Given the description of an element on the screen output the (x, y) to click on. 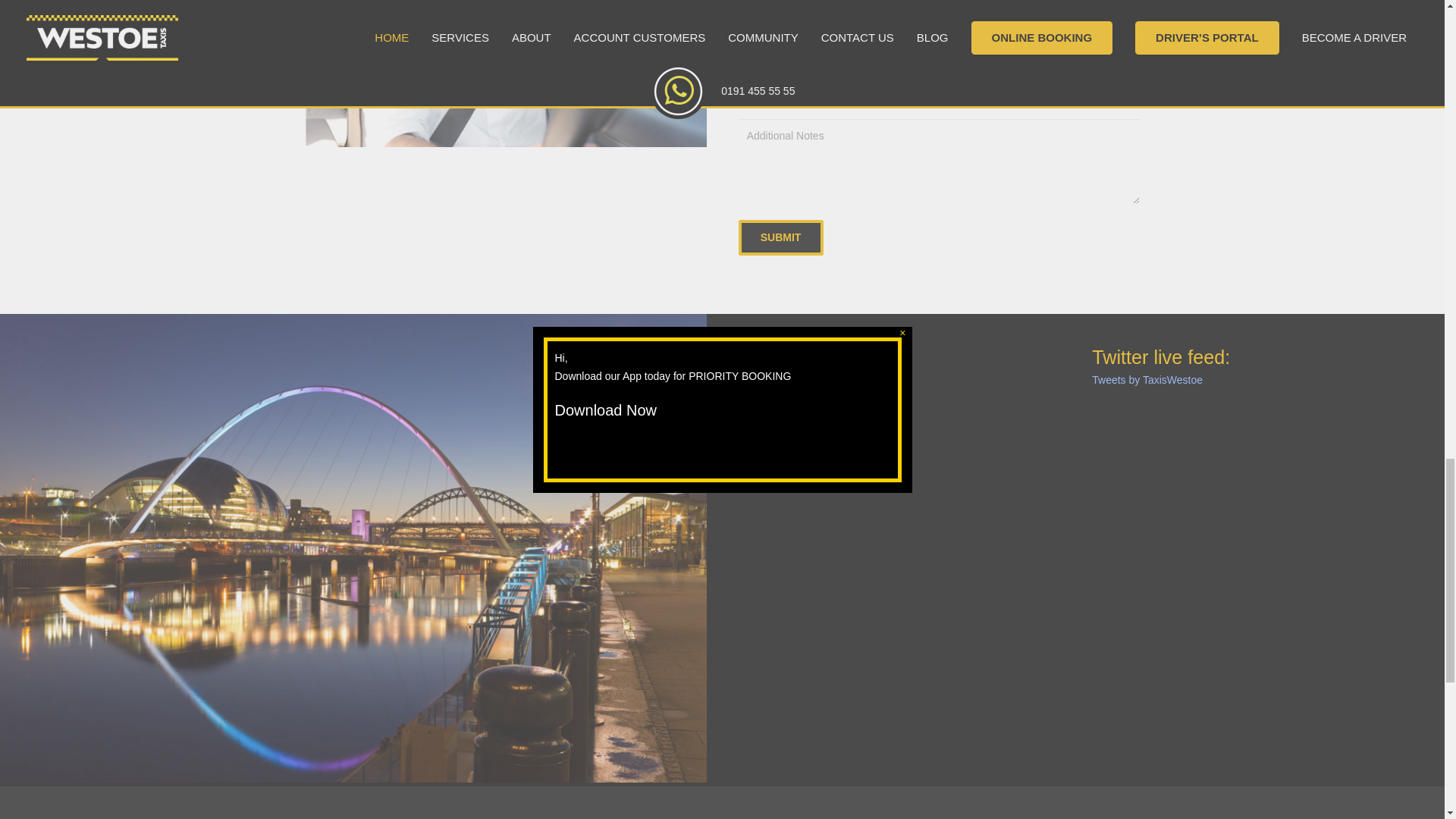
SUBMIT (781, 237)
SUBMIT (781, 237)
Tweets by TaxisWestoe (1147, 379)
